Given the description of an element on the screen output the (x, y) to click on. 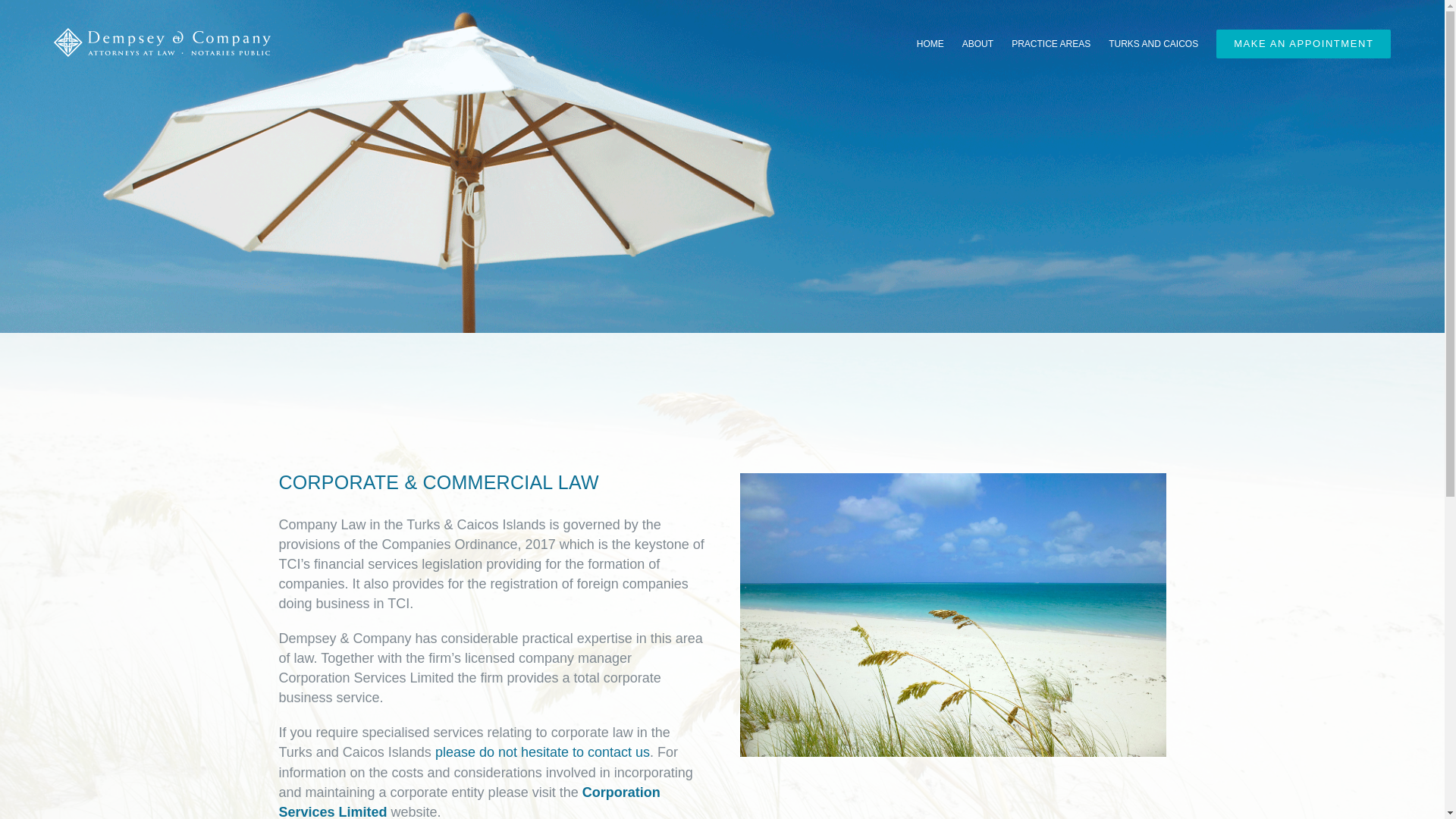
website01 (952, 614)
PRACTICE AREAS (1050, 43)
MAKE AN APPOINTMENT (1302, 43)
TURKS AND CAICOS (1153, 43)
please do not hesitate to contact us (542, 752)
Corporation Services Limited (468, 801)
